Given the description of an element on the screen output the (x, y) to click on. 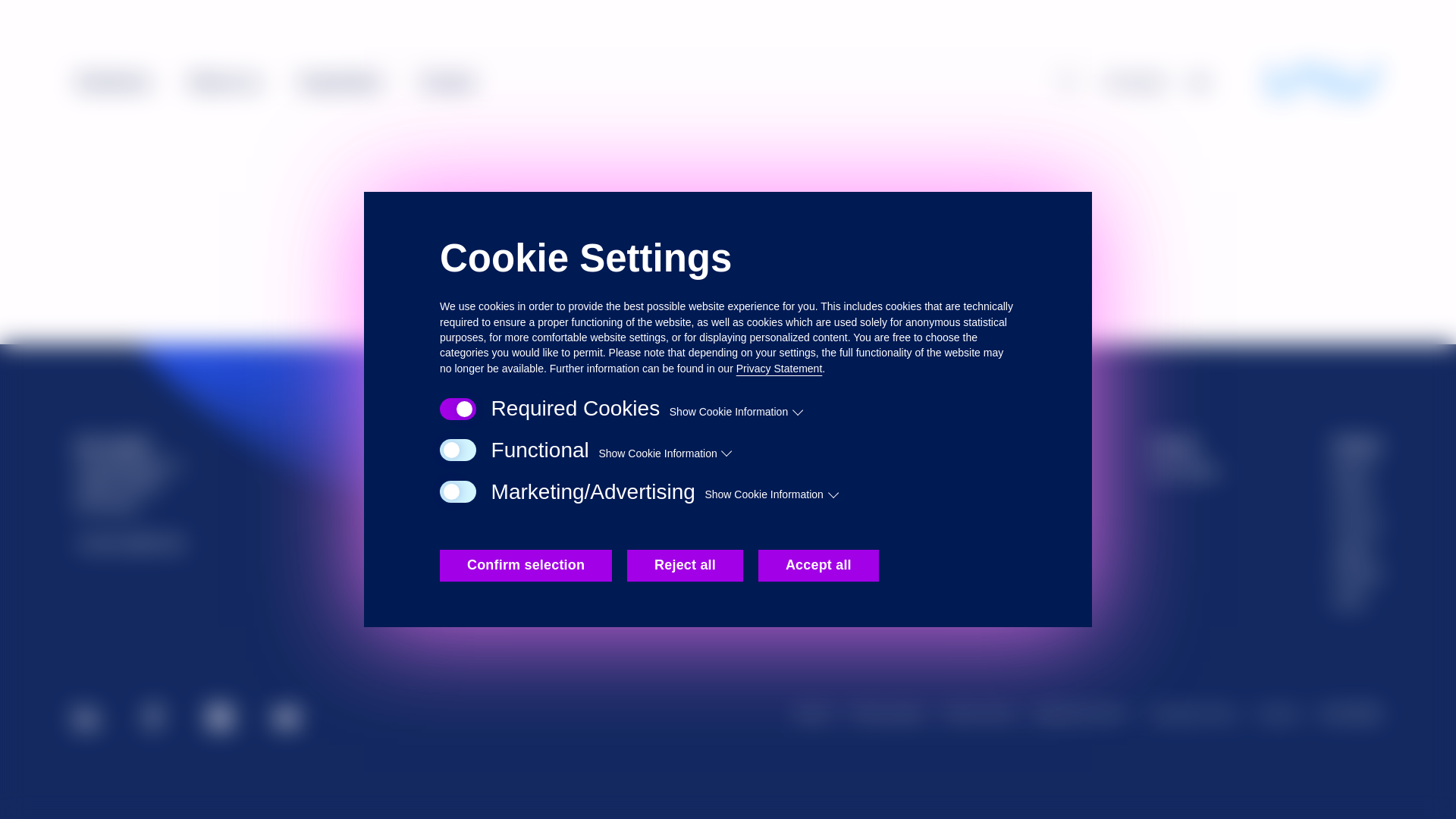
Terms of Use (978, 714)
Poland (1356, 573)
LinkedIn (86, 717)
Brazil (1356, 470)
China (1356, 496)
SpeakUp System (1080, 714)
Imprint (812, 714)
Cookies (1277, 714)
Locations (815, 522)
Downloads (815, 496)
Japan (1356, 547)
Products (1003, 470)
France (1356, 522)
Instagram (219, 717)
Certificate Policy (1191, 714)
